Given the description of an element on the screen output the (x, y) to click on. 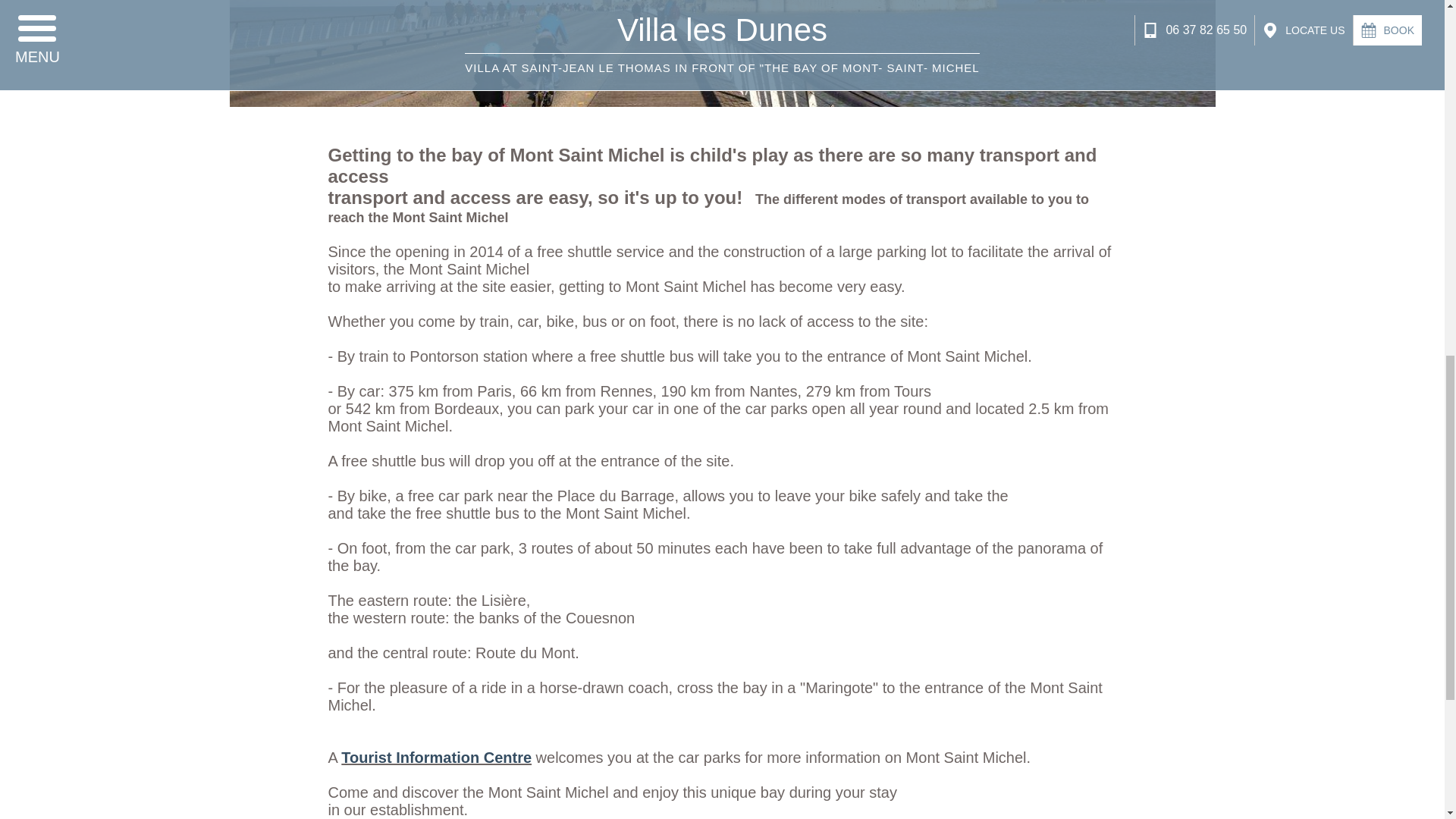
Tourist Information Centre (435, 757)
